Given the description of an element on the screen output the (x, y) to click on. 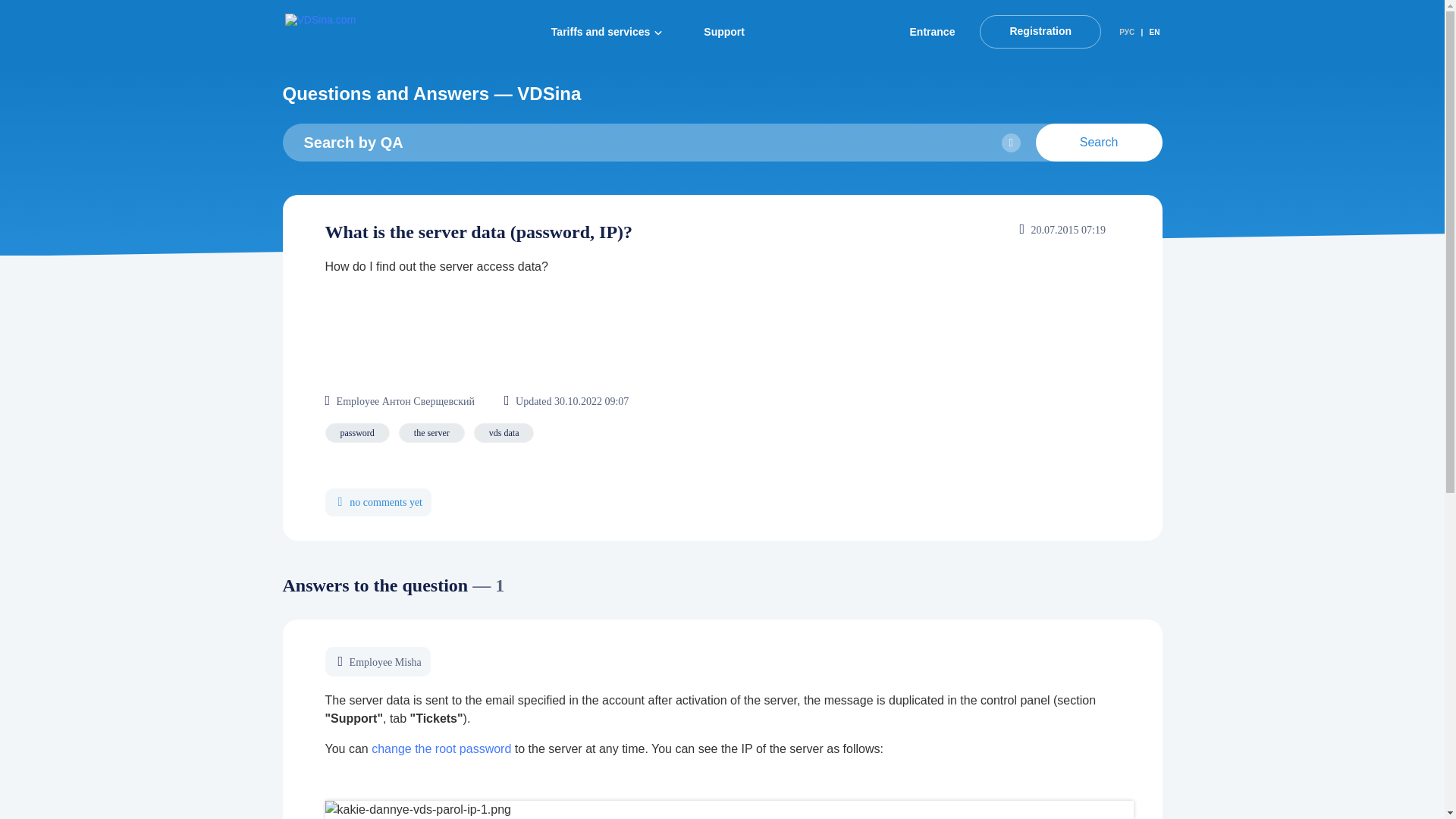
Registration (1039, 30)
no comments yet (377, 502)
change the root password (441, 748)
kakie-dannye-vds-parol-ip-1.png (728, 809)
vds data (504, 433)
Tariffs and services (606, 31)
password (356, 433)
Search (1098, 142)
the server (431, 433)
